Given the description of an element on the screen output the (x, y) to click on. 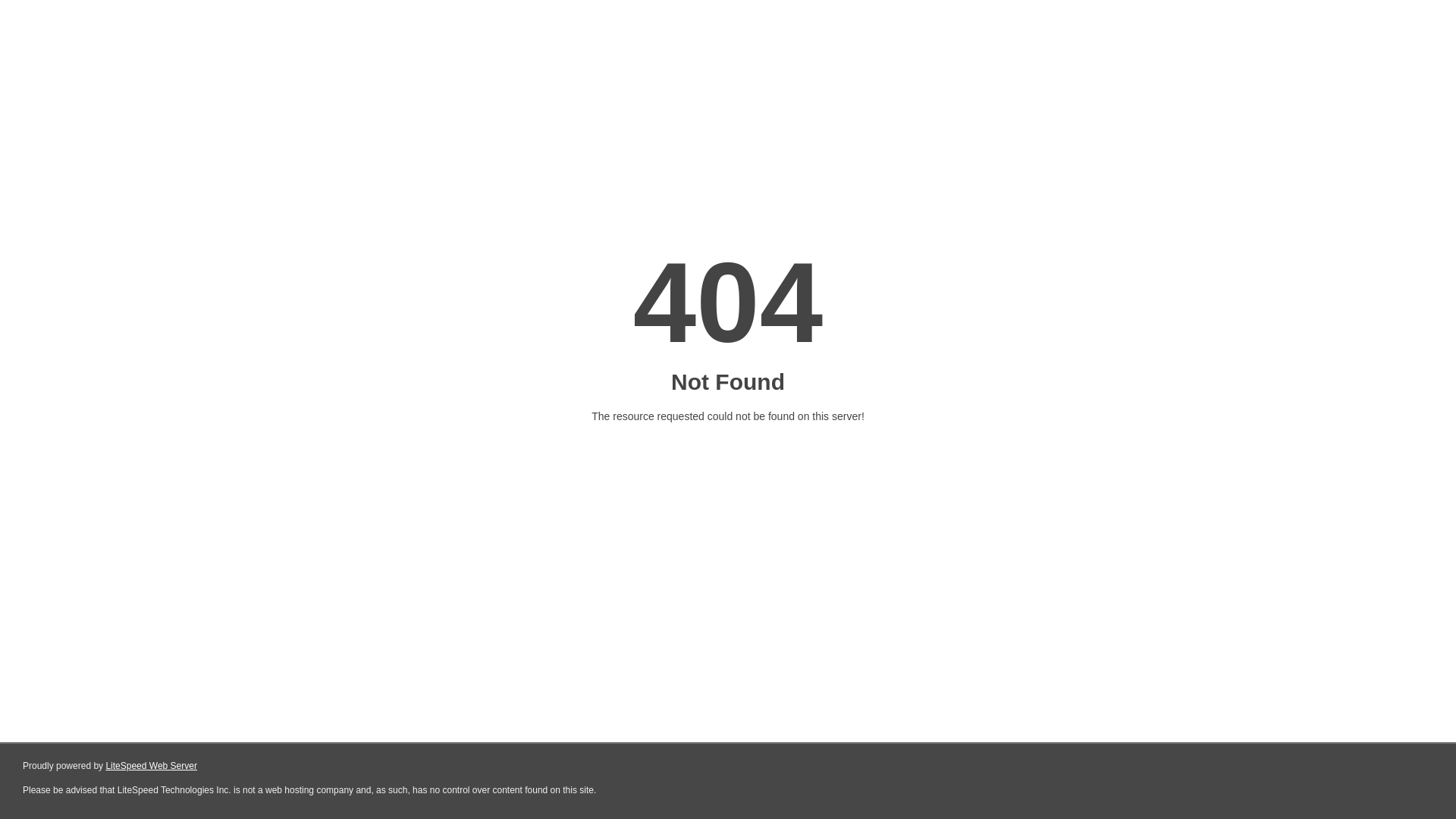
LiteSpeed Web Server Element type: text (151, 765)
